Given the description of an element on the screen output the (x, y) to click on. 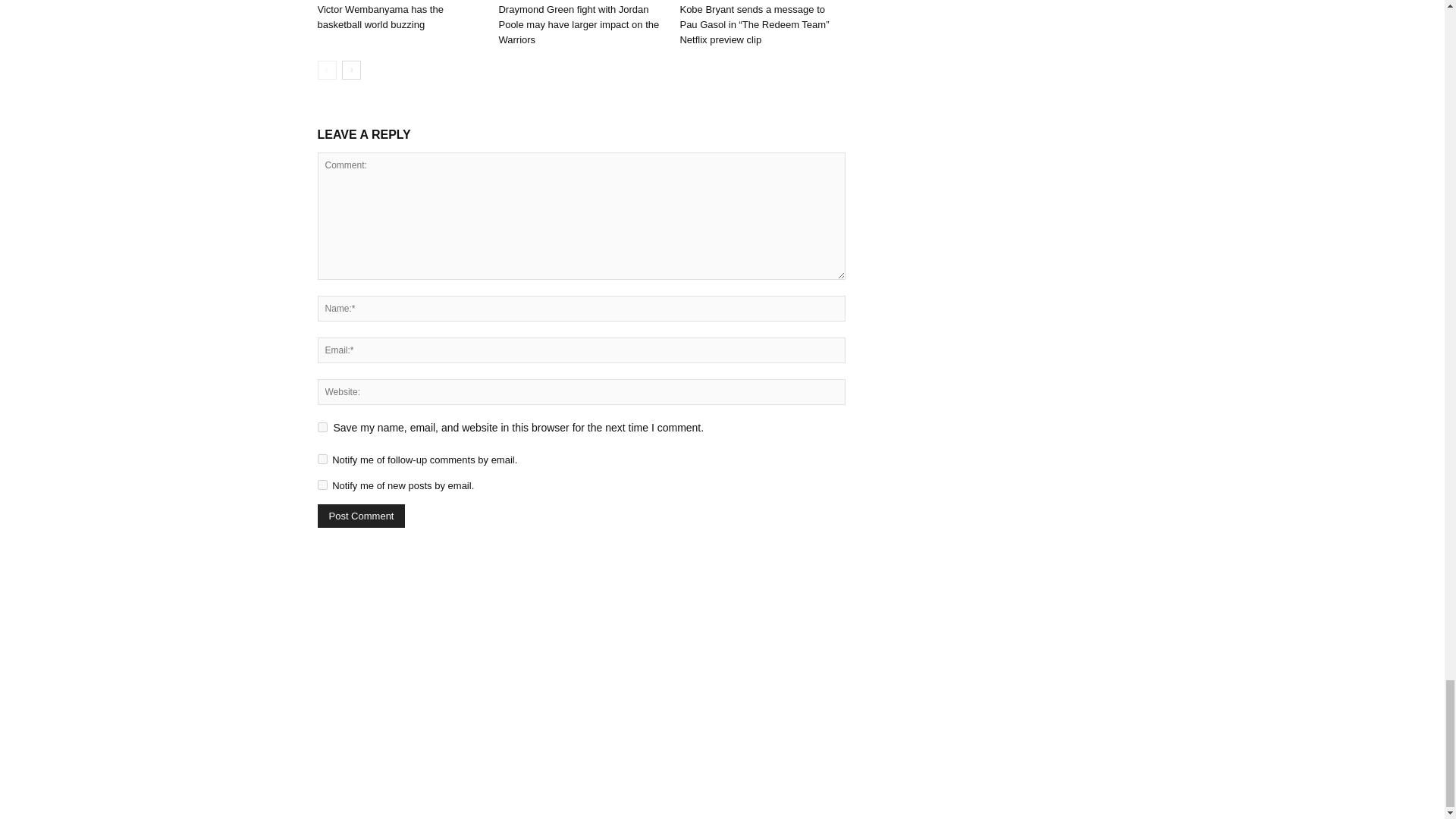
subscribe (321, 484)
yes (321, 427)
subscribe (321, 459)
Victor Wembanyama has the basketball world buzzing (379, 17)
Post Comment (360, 515)
